Given the description of an element on the screen output the (x, y) to click on. 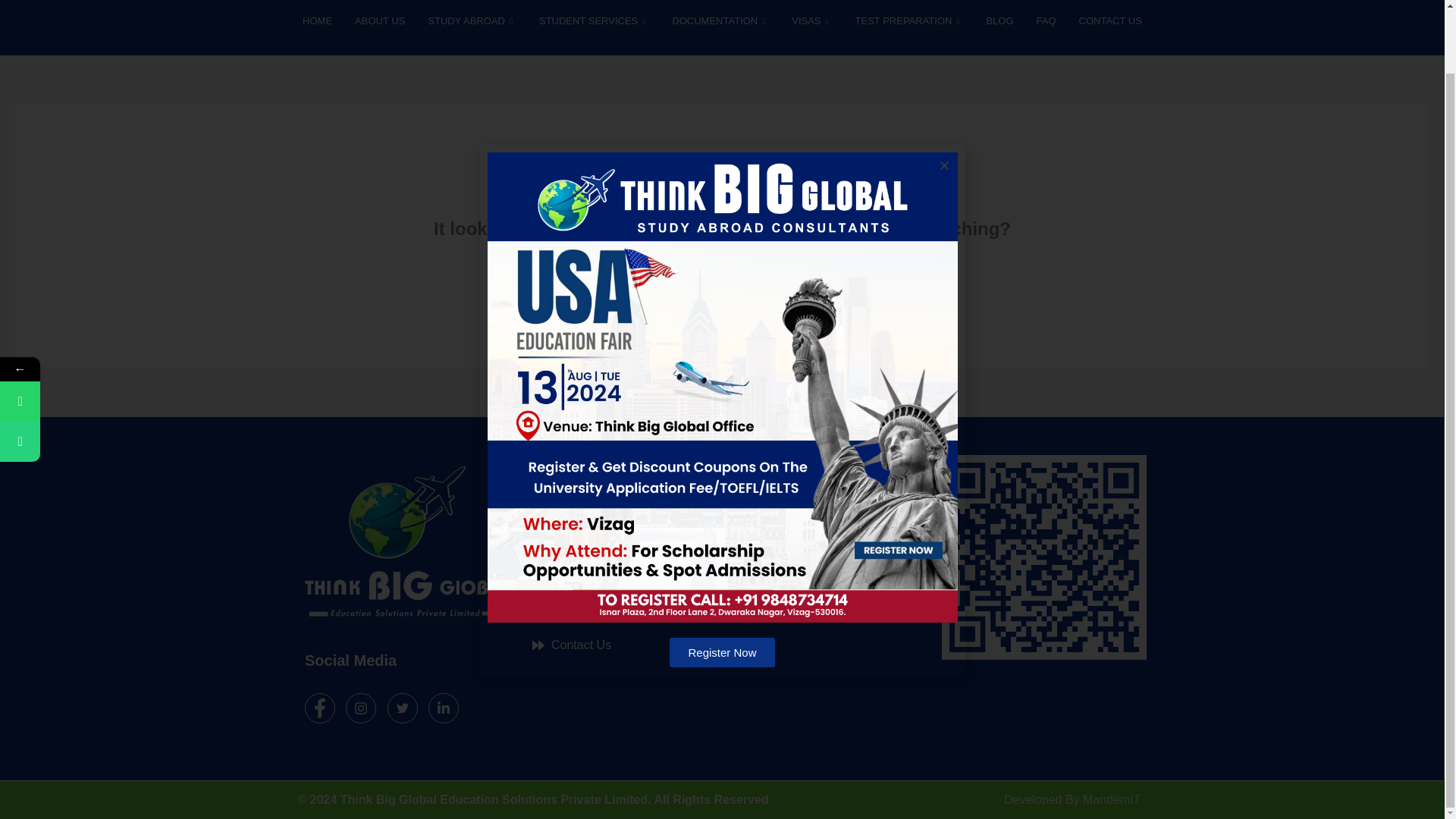
Phone (92, 372)
DOCUMENTATION (720, 23)
WhatsApp (92, 332)
Phone (20, 372)
VISAS (811, 23)
STUDENT SERVICES (594, 23)
ABOUT US (379, 23)
STUDY ABROAD (471, 23)
WhatsApp (20, 332)
HOME (317, 23)
